Given the description of an element on the screen output the (x, y) to click on. 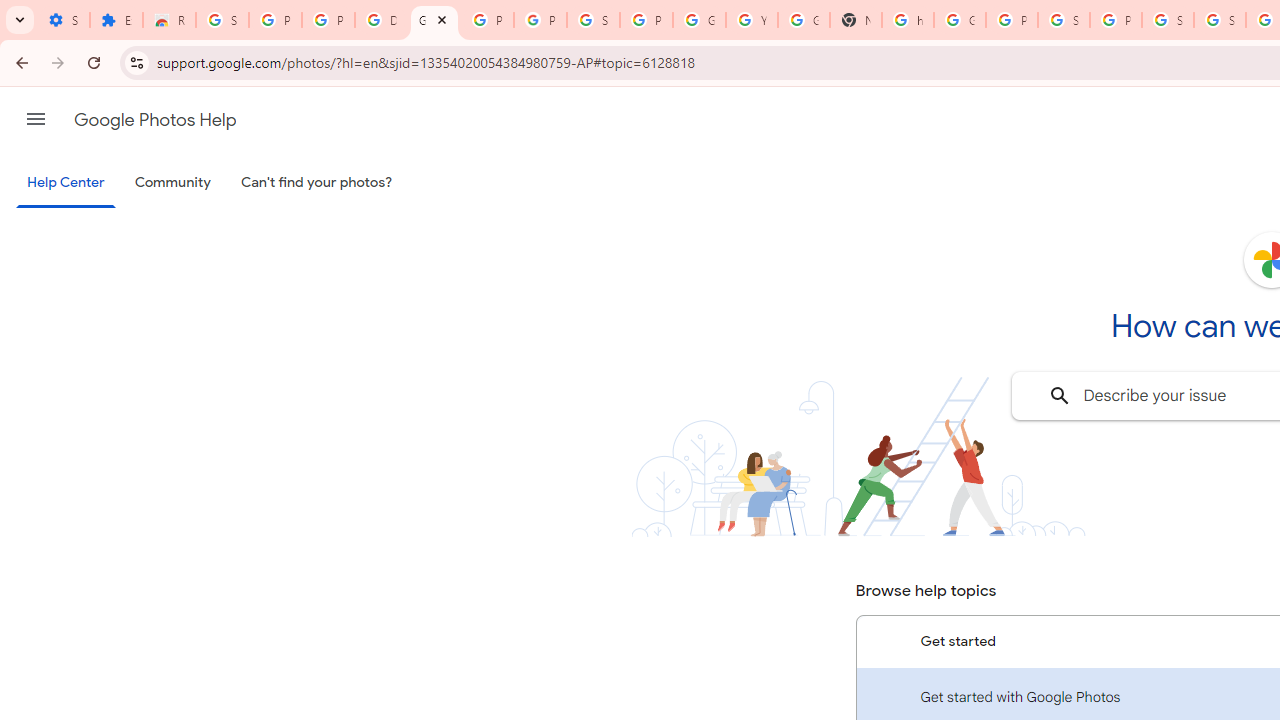
New Tab (855, 20)
Delete photos & videos - Computer - Google Photos Help (381, 20)
Reviews: Helix Fruit Jump Arcade Game (169, 20)
Can't find your photos? (317, 183)
https://scholar.google.com/ (907, 20)
